Given the description of an element on the screen output the (x, y) to click on. 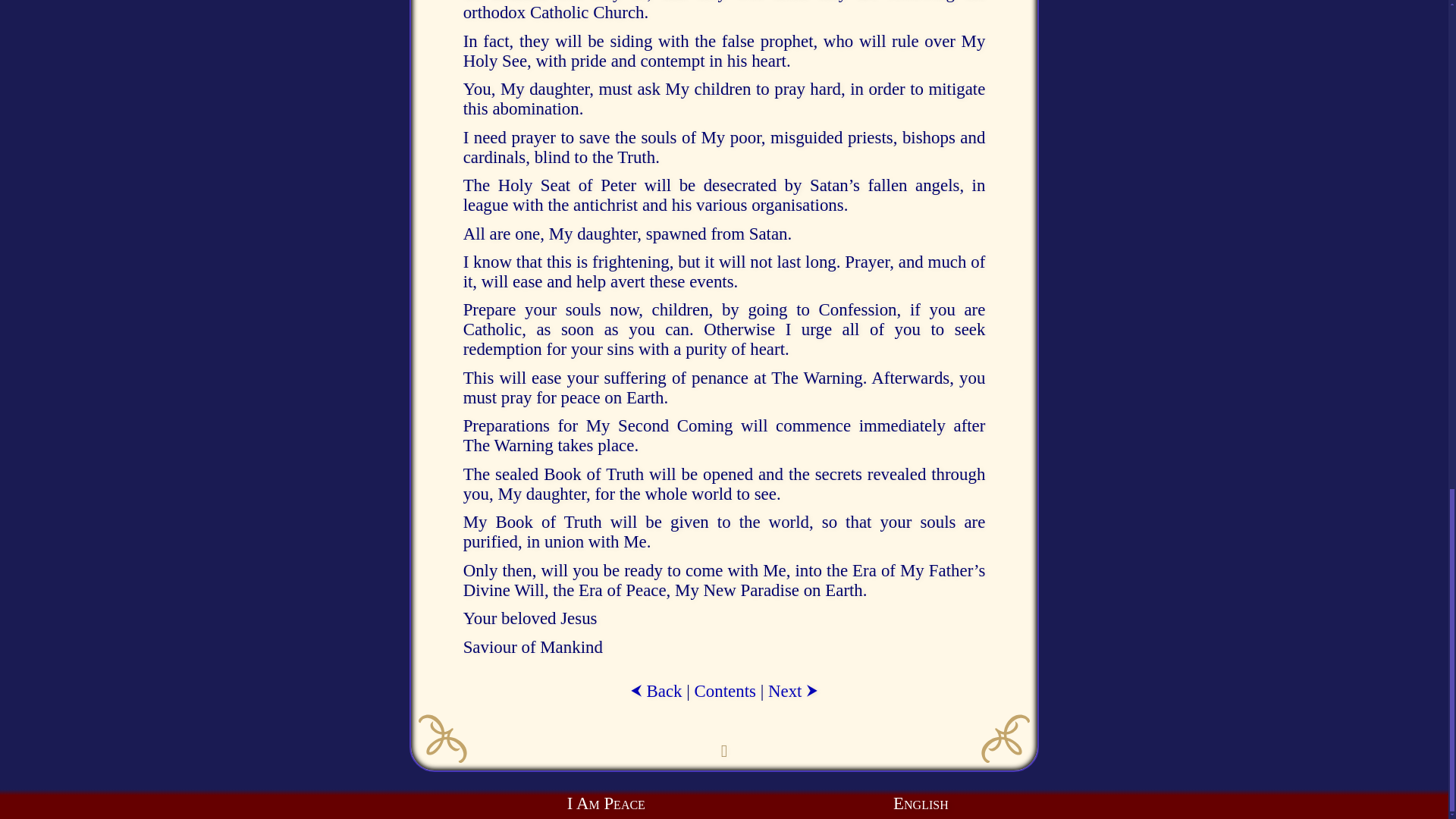
Contents (724, 691)
